Given the description of an element on the screen output the (x, y) to click on. 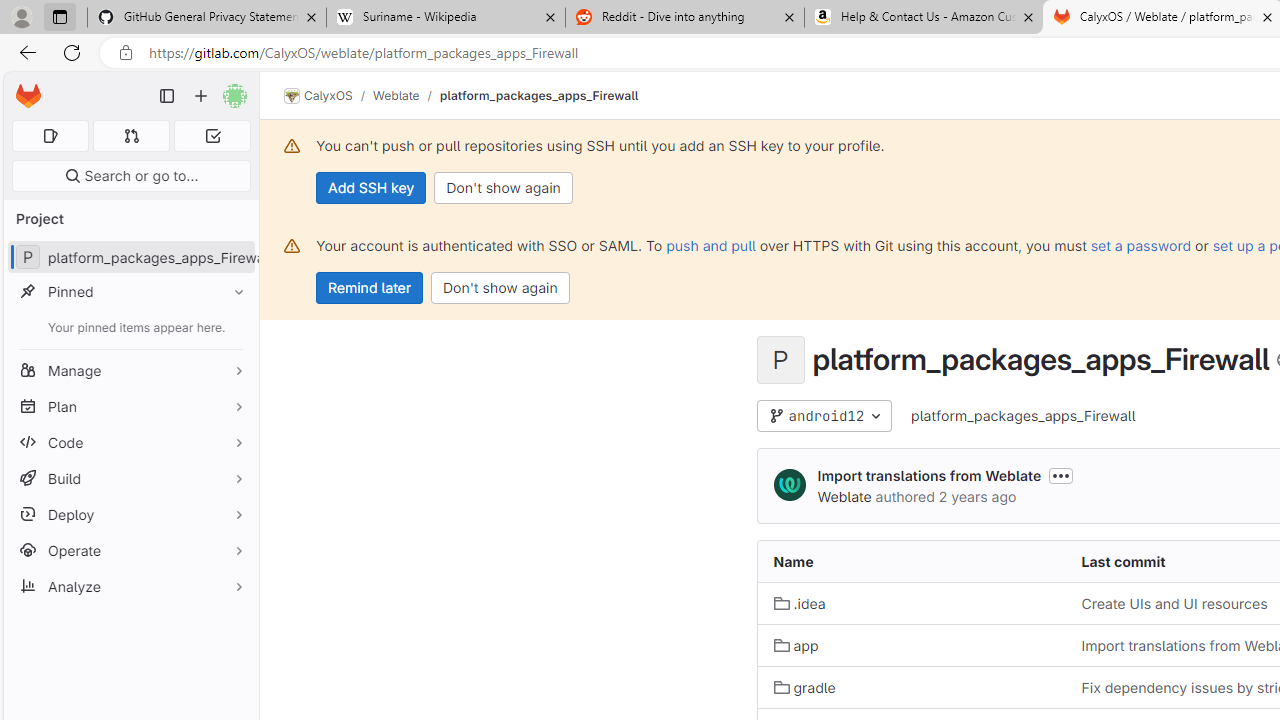
Build (130, 478)
app (796, 645)
gradle (804, 686)
.idea (799, 603)
gradle (911, 687)
Don't show again (500, 287)
Remind later (369, 287)
Analyze (130, 586)
GitHub General Privacy Statement - GitHub Docs (207, 17)
Code (130, 442)
